Given the description of an element on the screen output the (x, y) to click on. 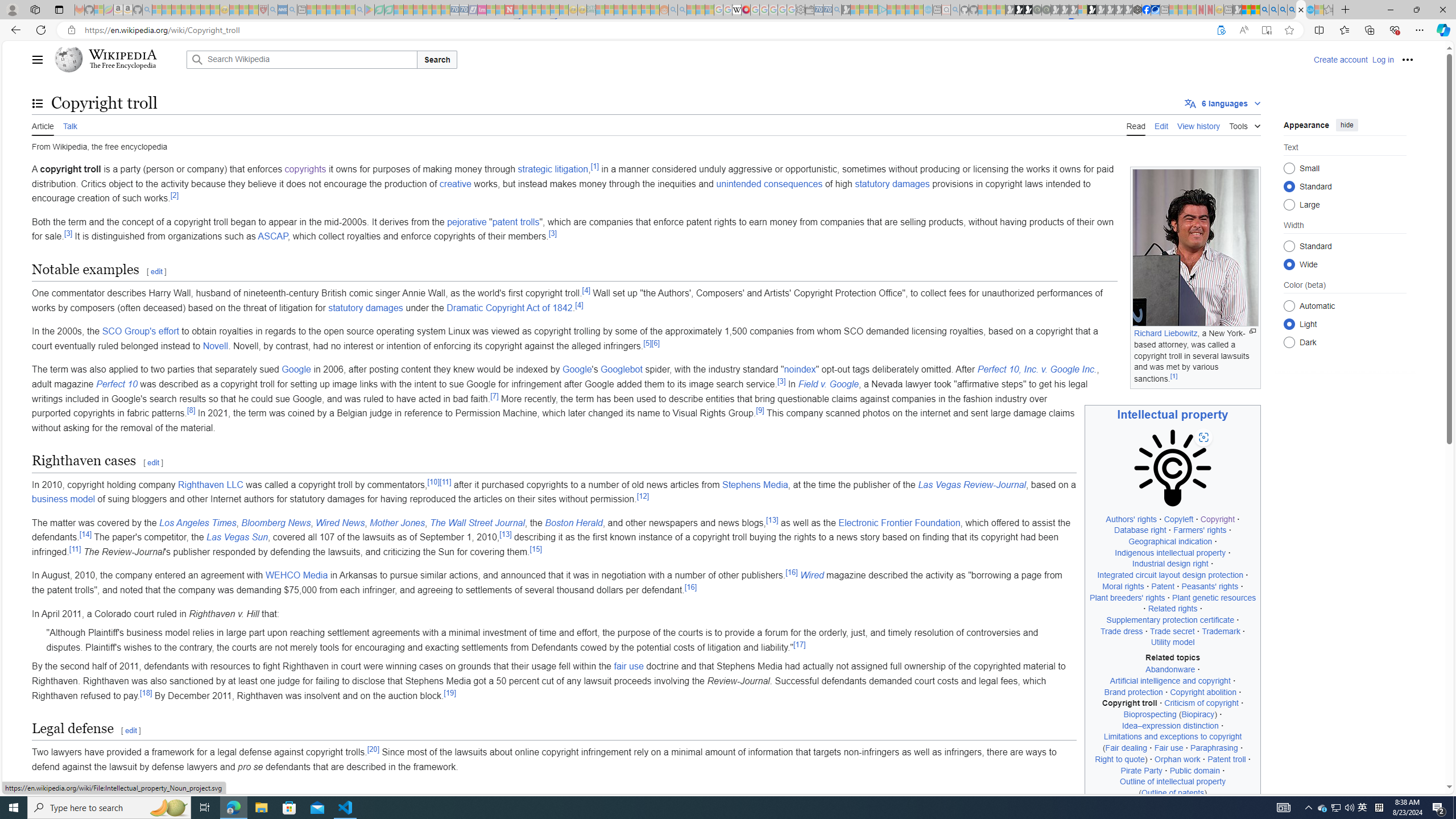
Large (1289, 204)
Bloomberg News (276, 522)
creative (455, 183)
Bluey: Let's Play! - Apps on Google Play - Sleeping (369, 9)
Fair use (1168, 747)
Stephens Media (754, 484)
MediaWiki (745, 9)
Copyright abolition (1203, 691)
Orphan work (1177, 759)
[14] (84, 533)
